Given the description of an element on the screen output the (x, y) to click on. 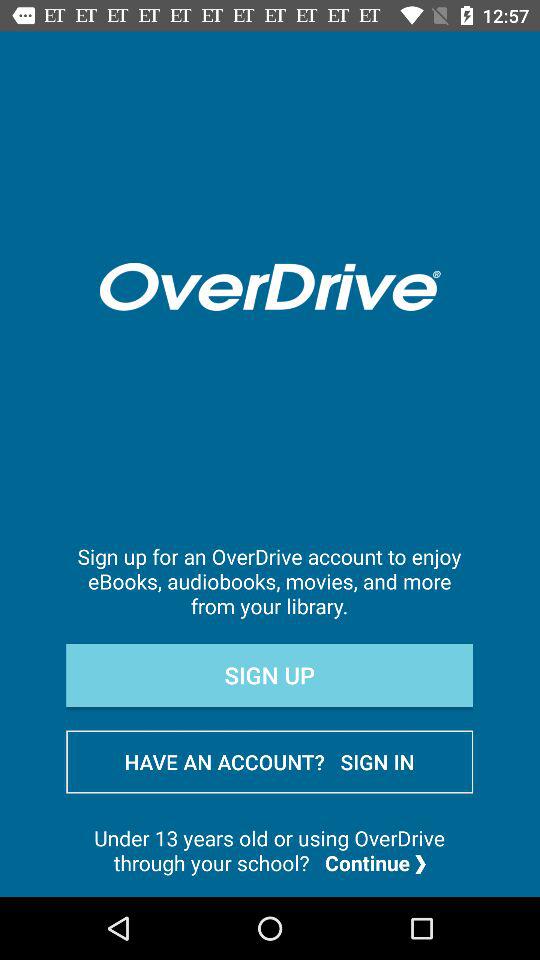
jump until the under 13 years item (269, 850)
